Given the description of an element on the screen output the (x, y) to click on. 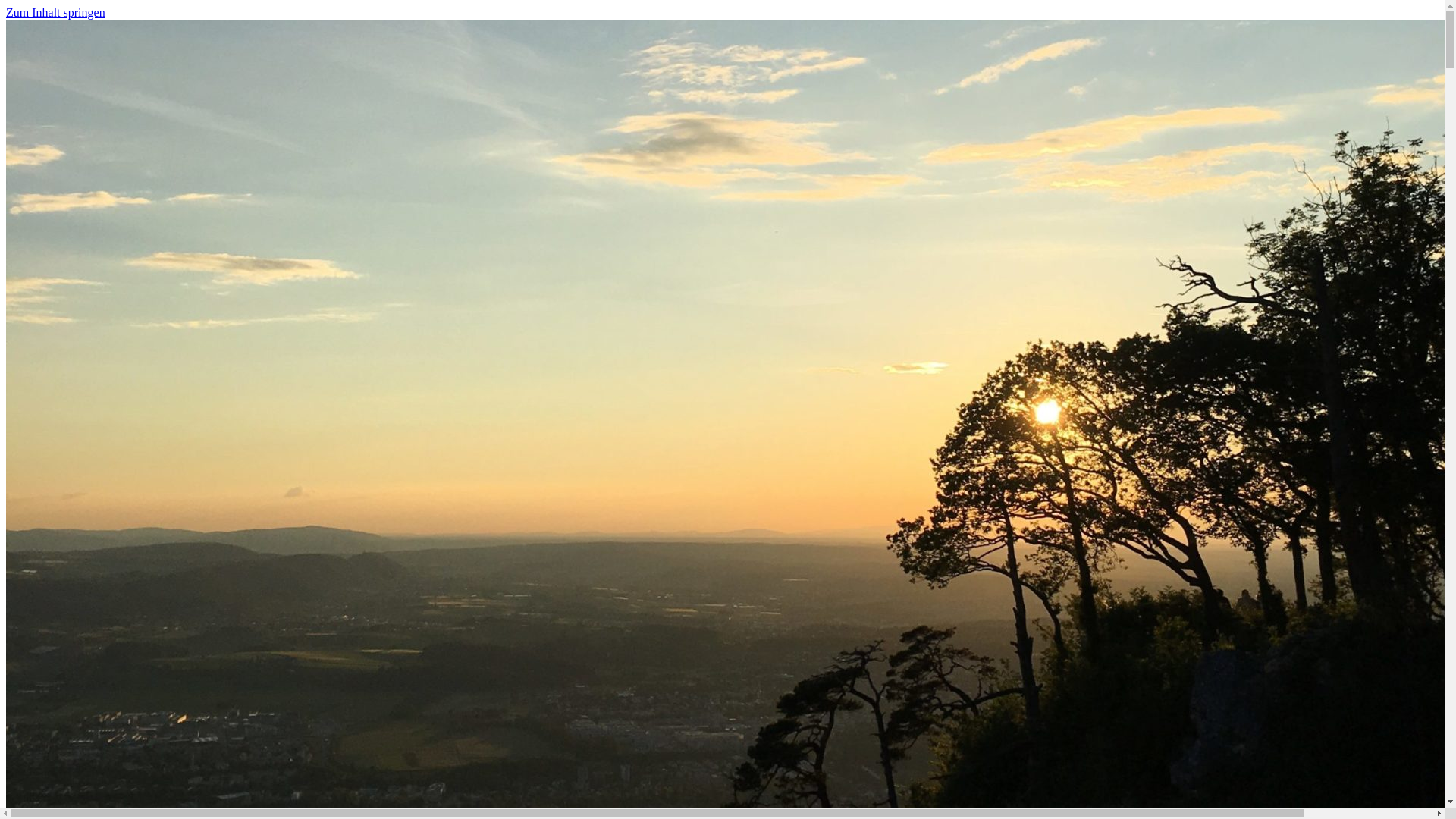
Zum Inhalt springen Element type: text (55, 12)
